Given the description of an element on the screen output the (x, y) to click on. 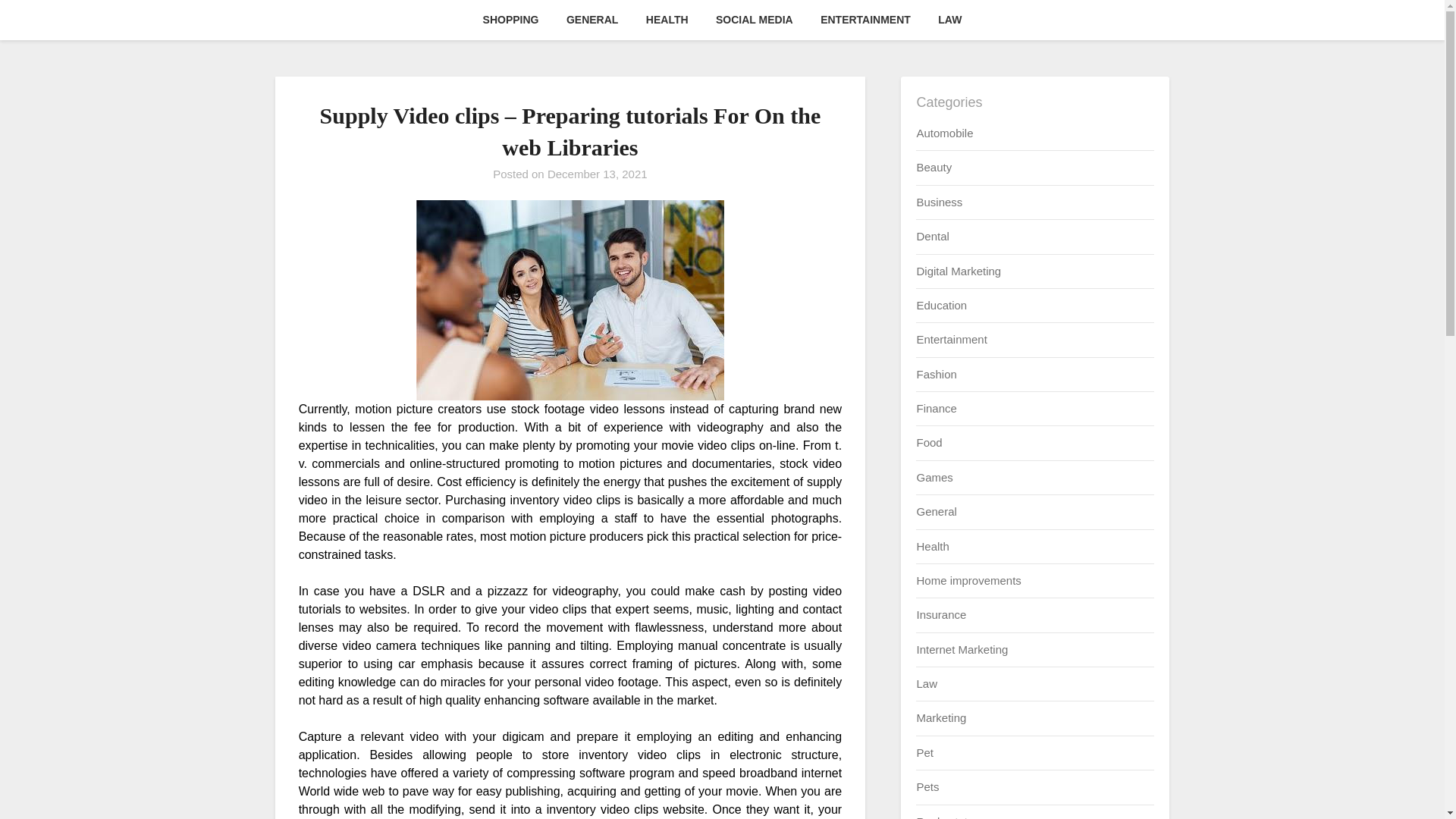
Beauty (933, 166)
Law (926, 683)
ENTERTAINMENT (865, 20)
Marketing (940, 717)
LAW (950, 20)
Health (932, 545)
Fashion (935, 373)
Home improvements (967, 580)
Dental (932, 236)
Pets (927, 786)
Pet (924, 752)
Education (940, 305)
Games (933, 477)
Real estate (944, 816)
Entertainment (951, 338)
